Given the description of an element on the screen output the (x, y) to click on. 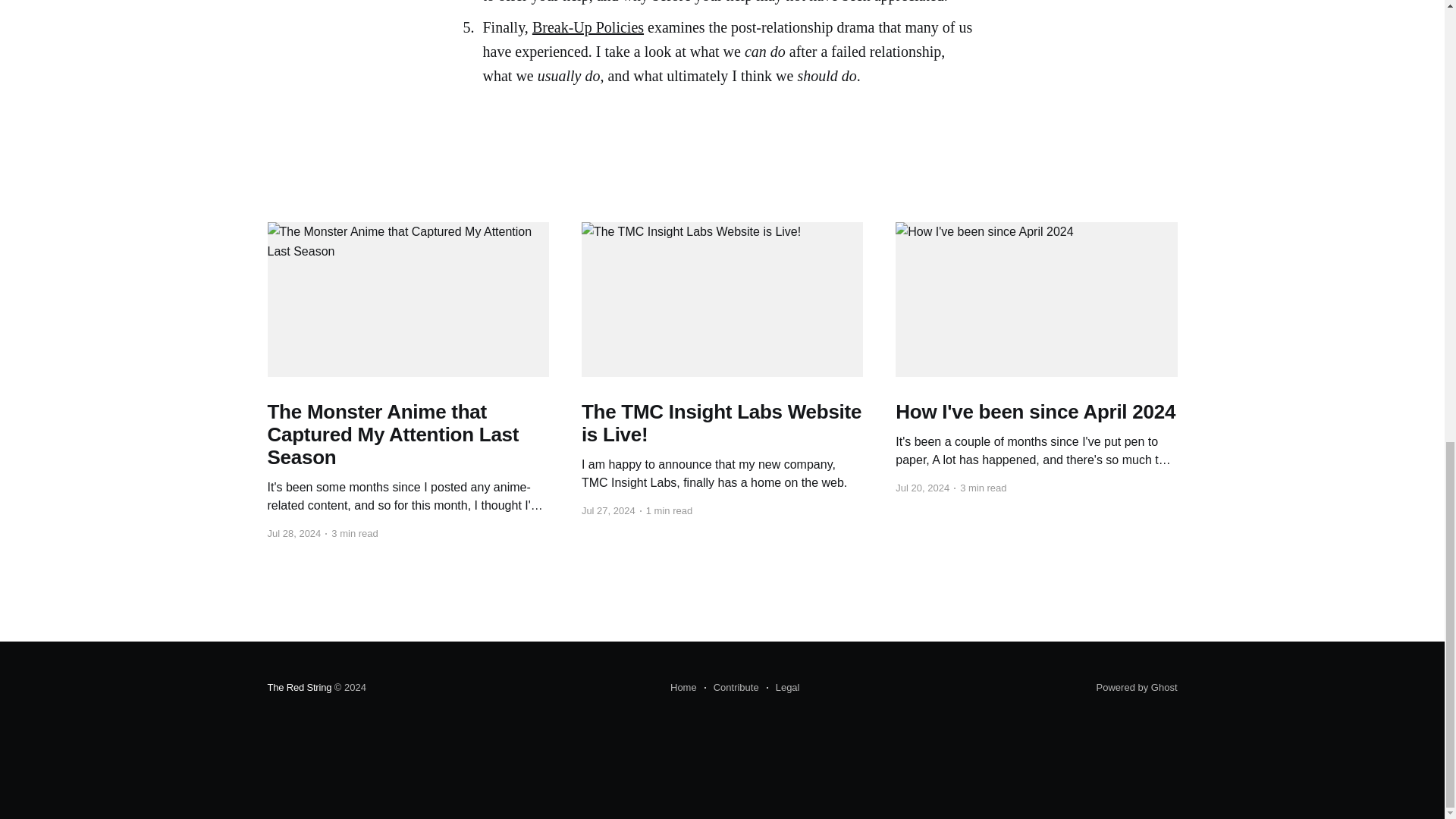
Legal (783, 687)
Home (683, 687)
Break-Up Policies (587, 27)
The Red String (298, 686)
Contribute (731, 687)
Powered by Ghost (1136, 686)
